Given the description of an element on the screen output the (x, y) to click on. 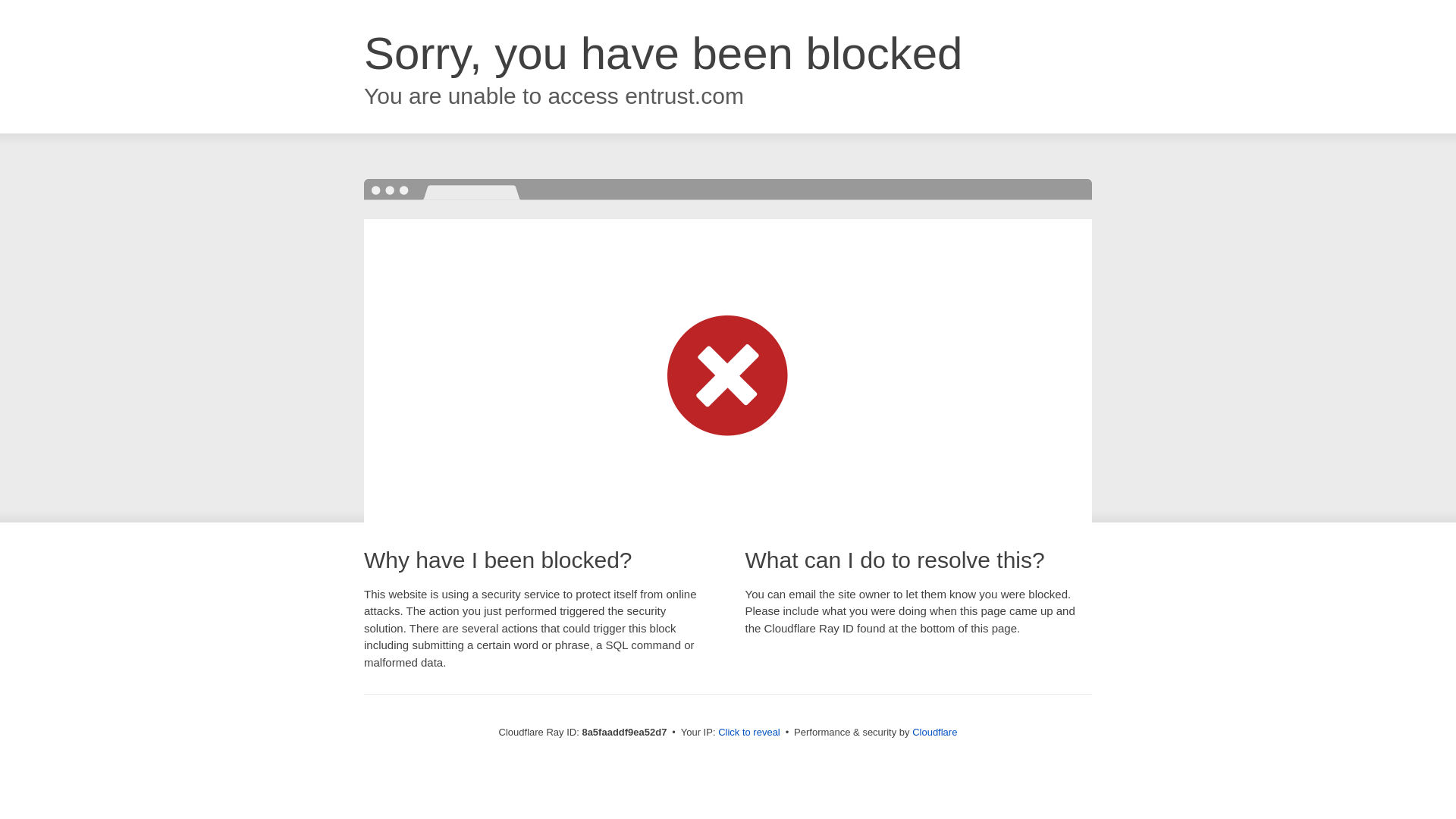
Click to reveal (748, 732)
Cloudflare (934, 731)
